Given the description of an element on the screen output the (x, y) to click on. 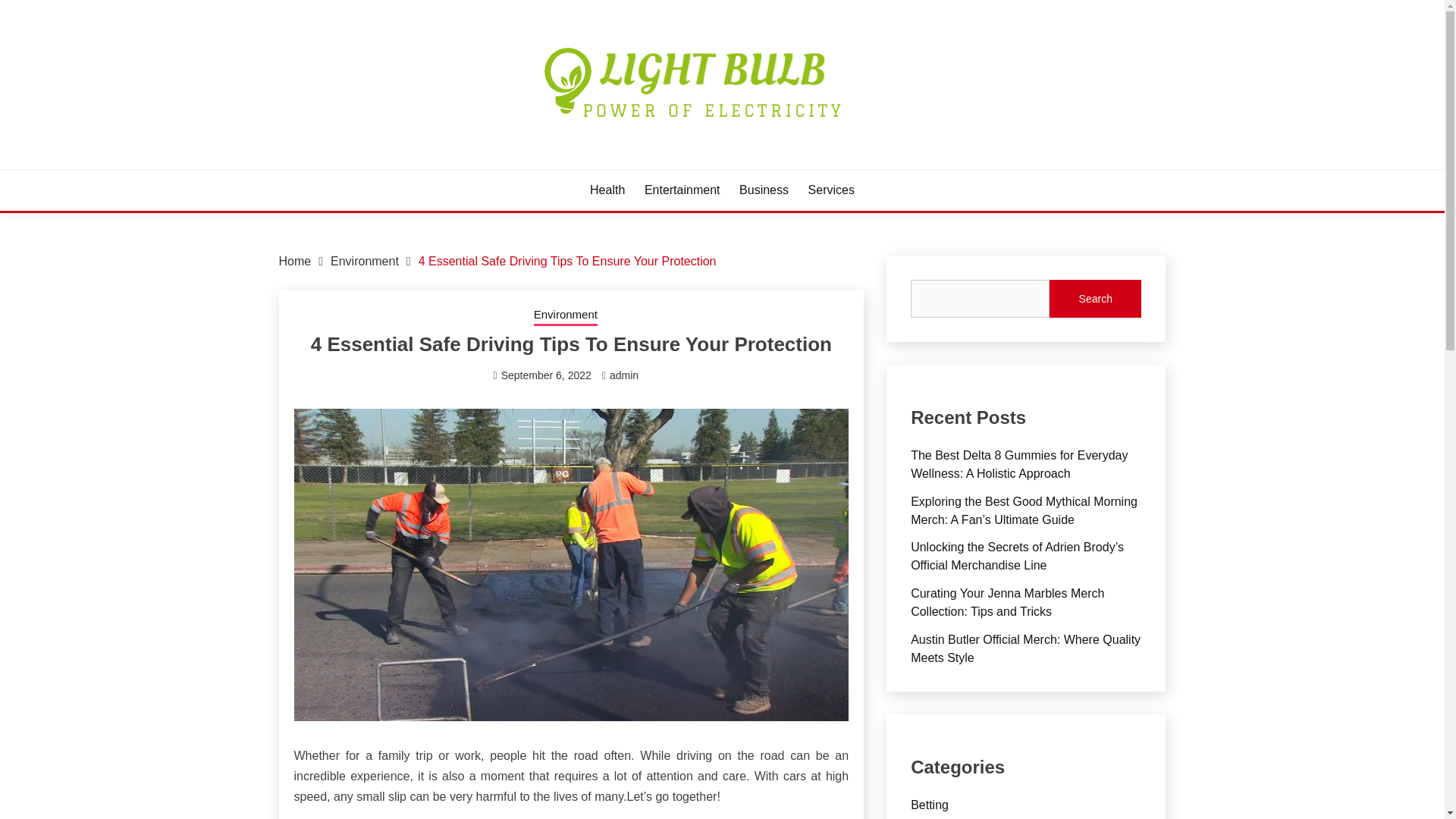
Environment (364, 260)
Home (295, 260)
Entertainment (682, 189)
Business (764, 189)
4 Essential Safe Driving Tips To Ensure Your Protection (567, 260)
Betting (930, 804)
Services (831, 189)
September 6, 2022 (545, 375)
